Given the description of an element on the screen output the (x, y) to click on. 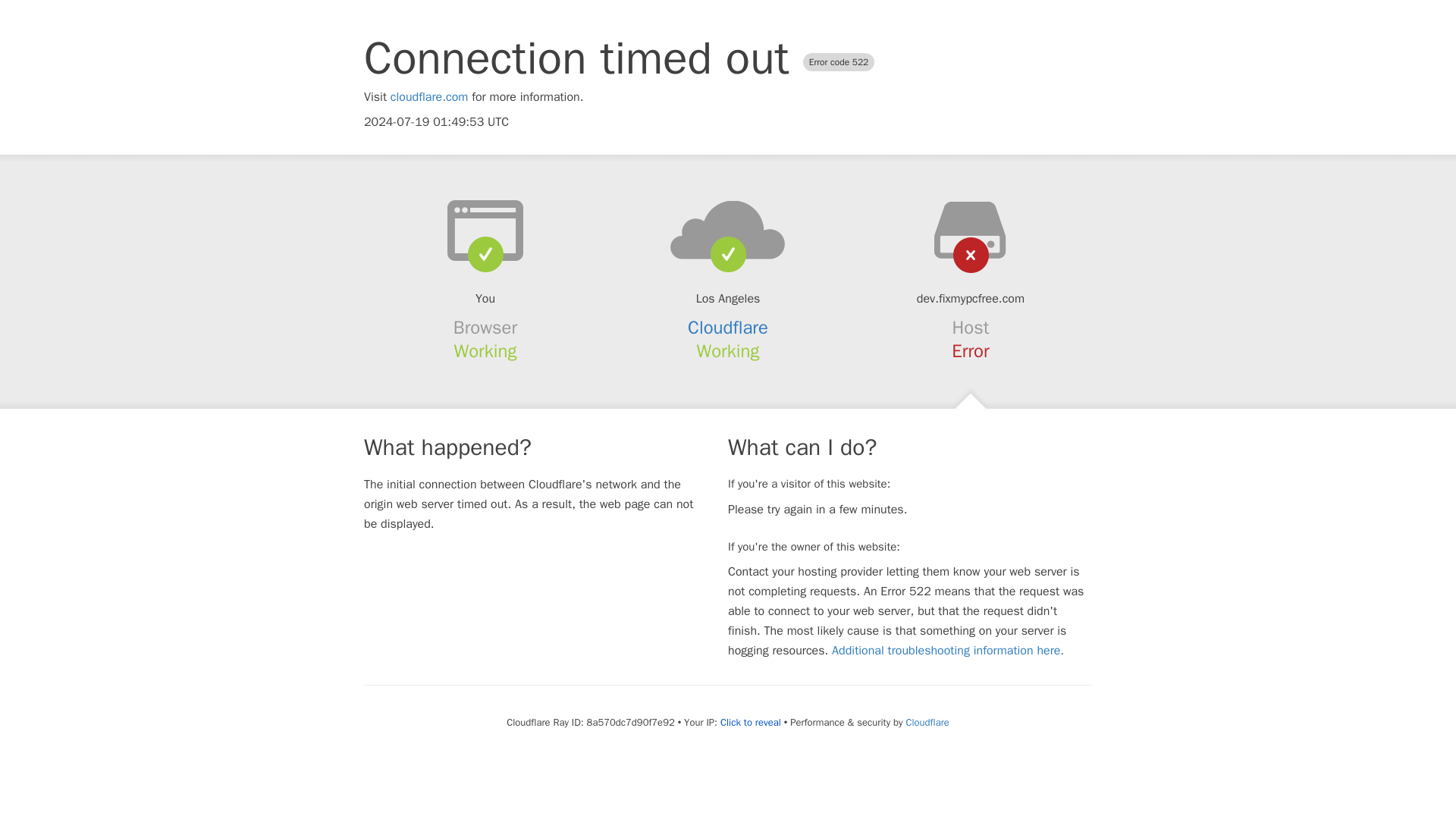
cloudflare.com (429, 96)
Cloudflare (927, 721)
Click to reveal (750, 722)
Cloudflare (727, 327)
Additional troubleshooting information here. (947, 650)
